Given the description of an element on the screen output the (x, y) to click on. 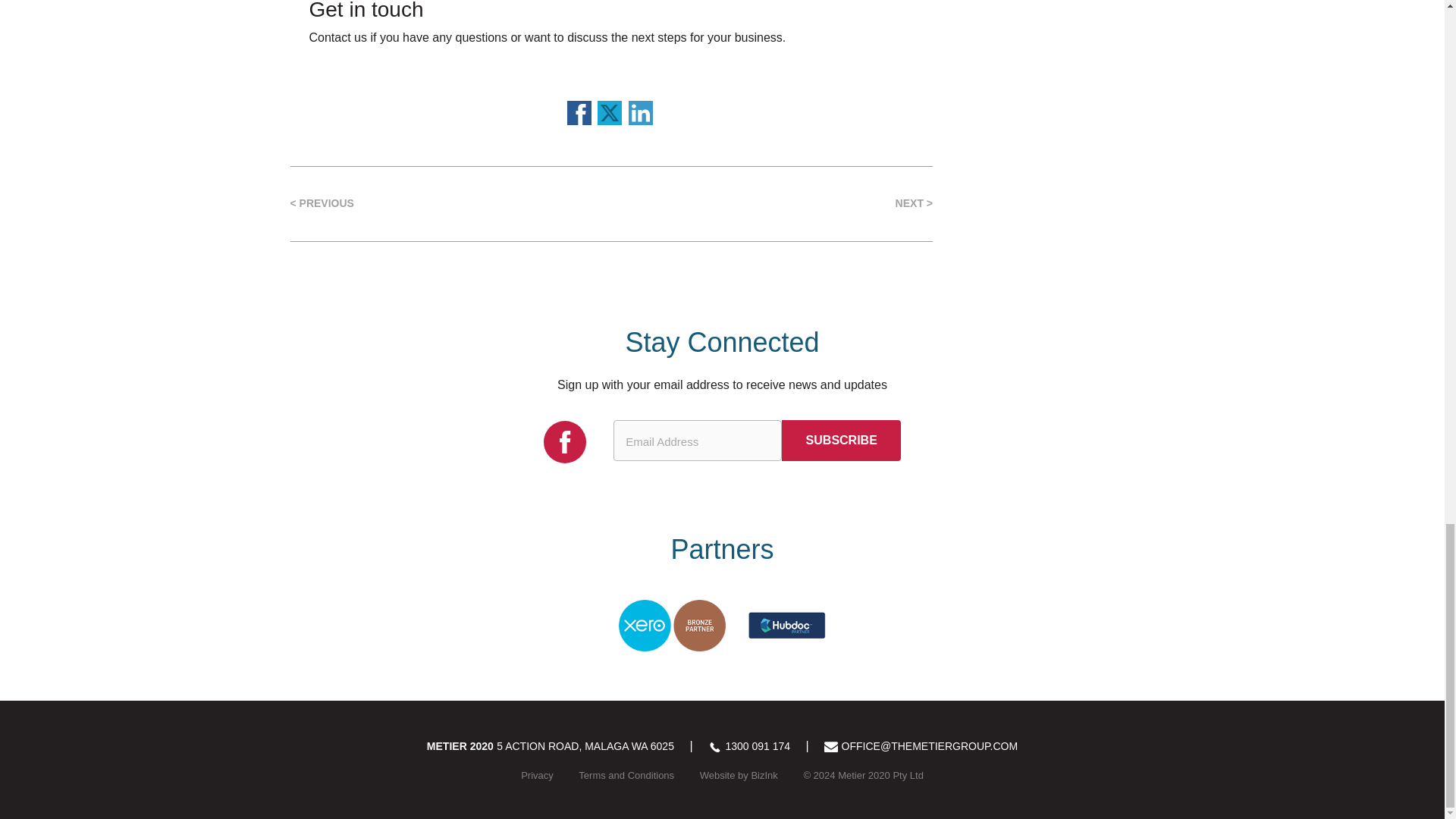
Subscribe (841, 440)
